Given the description of an element on the screen output the (x, y) to click on. 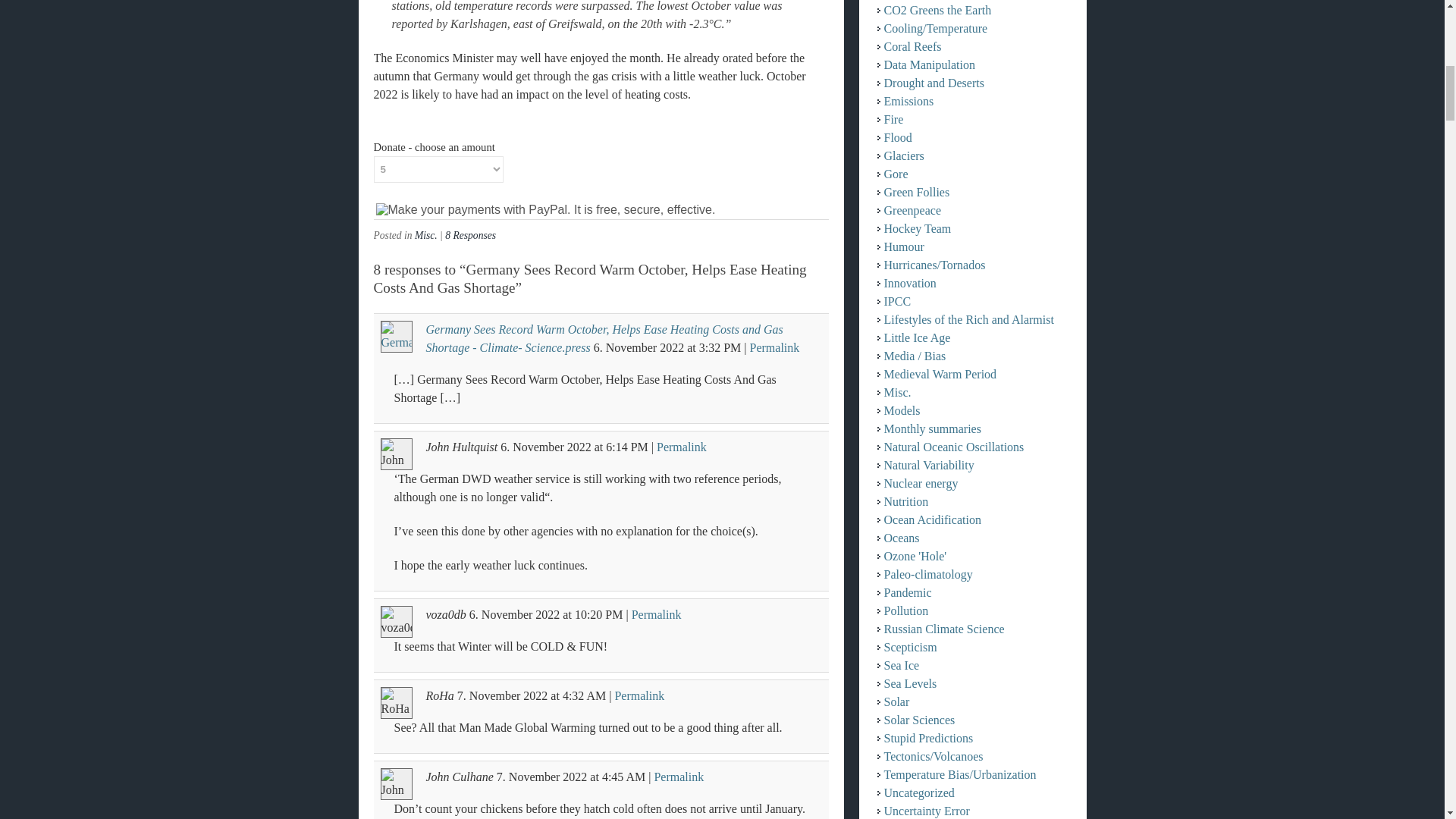
8 Responses (470, 235)
Sunday, November 6th, 2022, 3:32 pm (639, 347)
Permalink (681, 446)
Sunday, November 6th, 2022, 3:32 pm (719, 347)
CO2 Greens the Earth (937, 10)
Permalink (774, 347)
Permalink (678, 776)
Data Manipulation (929, 64)
Misc. (426, 235)
